Given the description of an element on the screen output the (x, y) to click on. 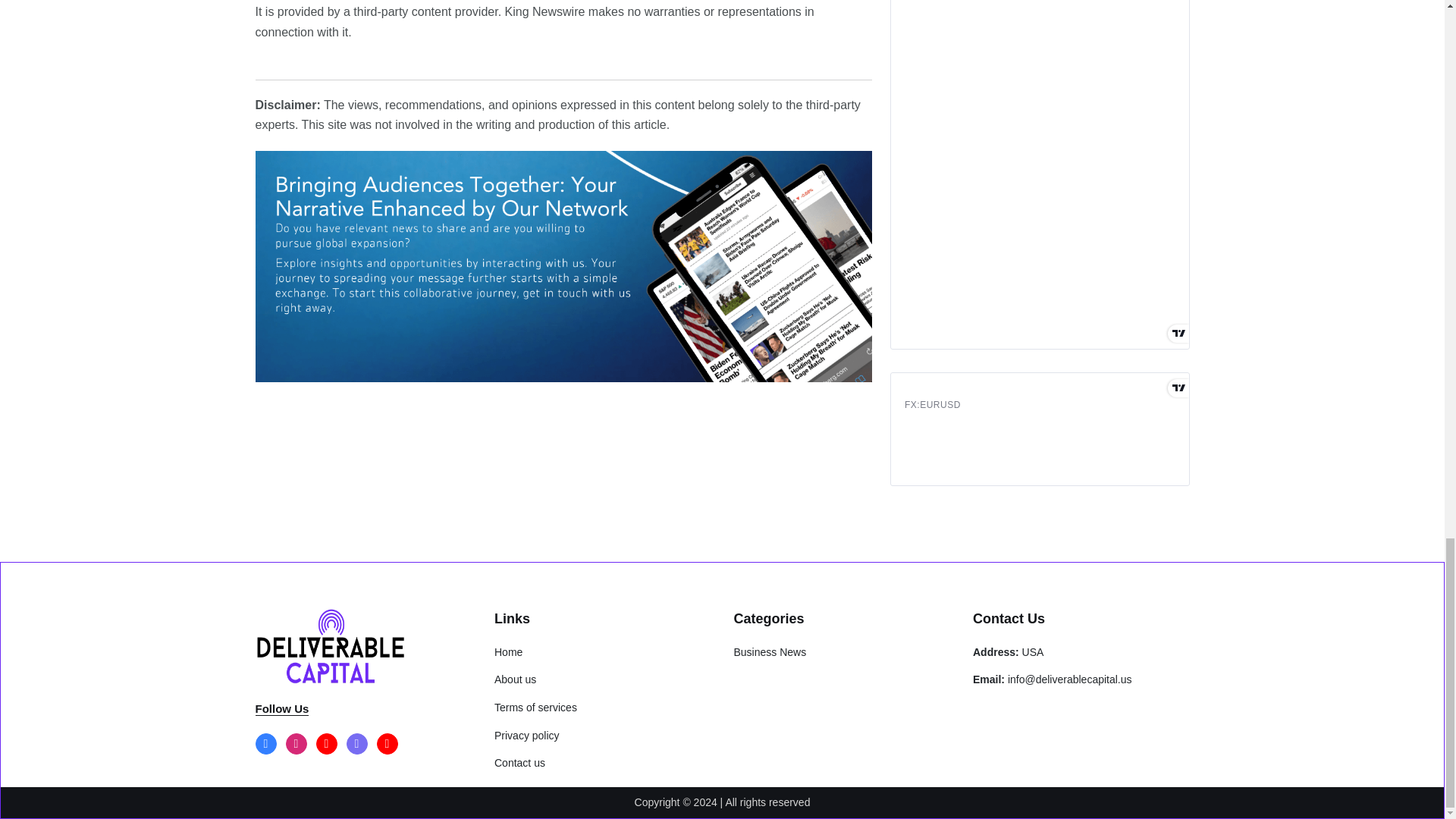
Terms of services (535, 707)
Privacy policy (527, 735)
Home (508, 652)
Business News (769, 652)
Contact us (519, 762)
About us (515, 679)
mini symbol-overview TradingView widget (1039, 429)
